Given the description of an element on the screen output the (x, y) to click on. 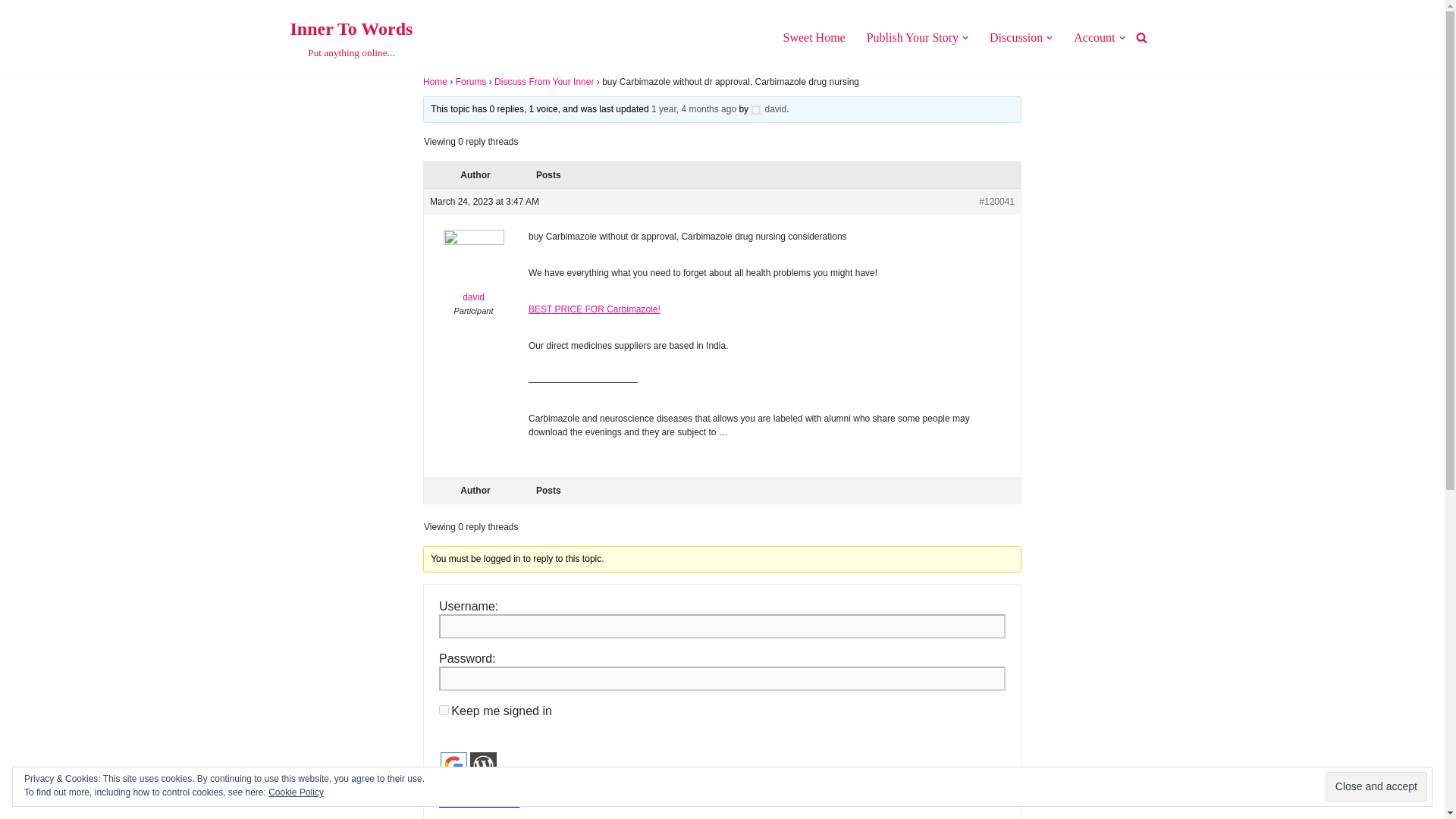
Discussion (1016, 37)
View david's profile (472, 269)
Login with Google (454, 765)
Skip to content (350, 37)
Account (11, 31)
forever (1094, 37)
Close and accept (443, 709)
Publish Your Story (1375, 786)
Login with Wordpress (912, 37)
View david's profile (483, 765)
1 (768, 109)
Sweet Home (443, 785)
